Given the description of an element on the screen output the (x, y) to click on. 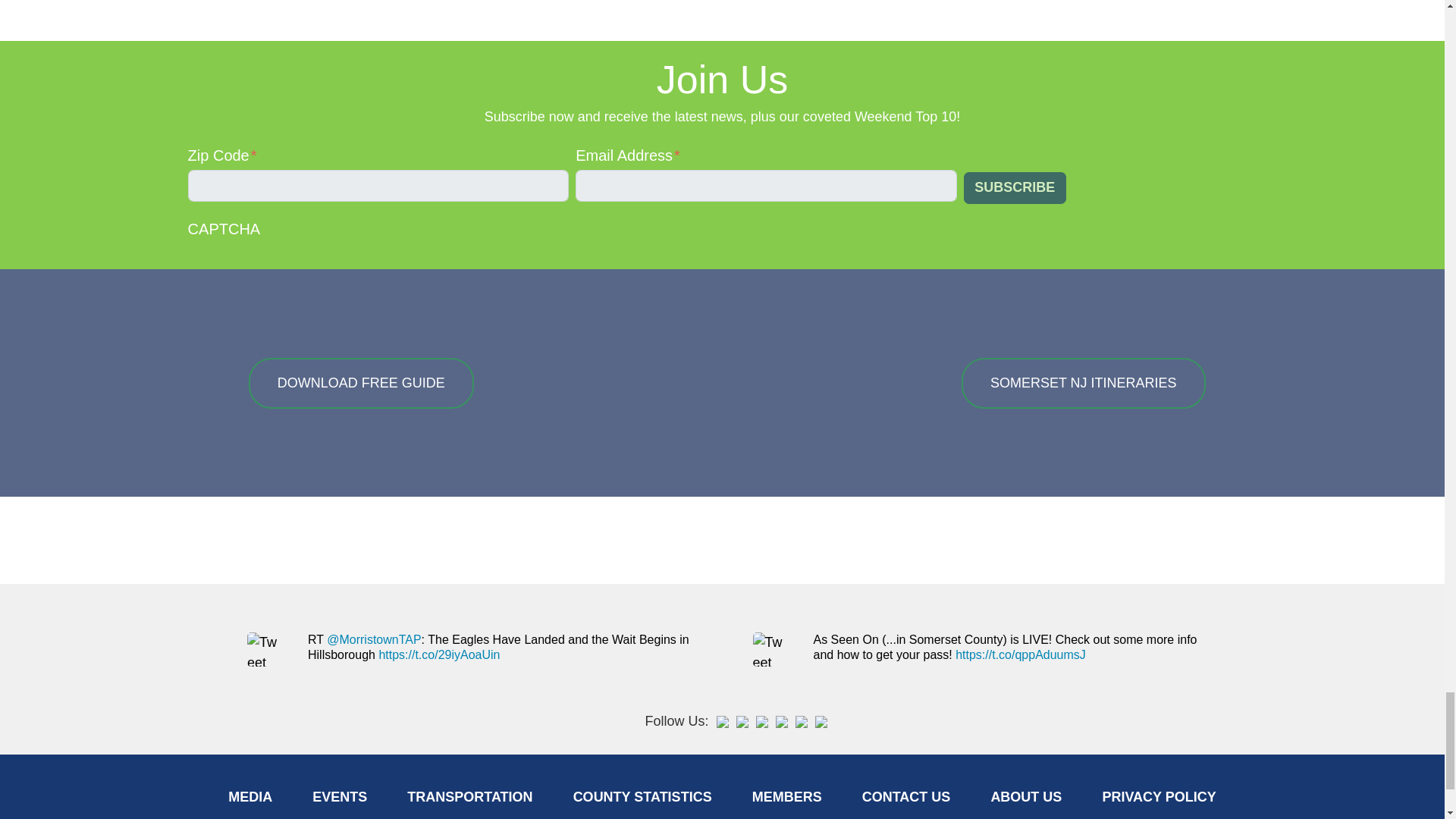
Subscribe (1014, 187)
